Given the description of an element on the screen output the (x, y) to click on. 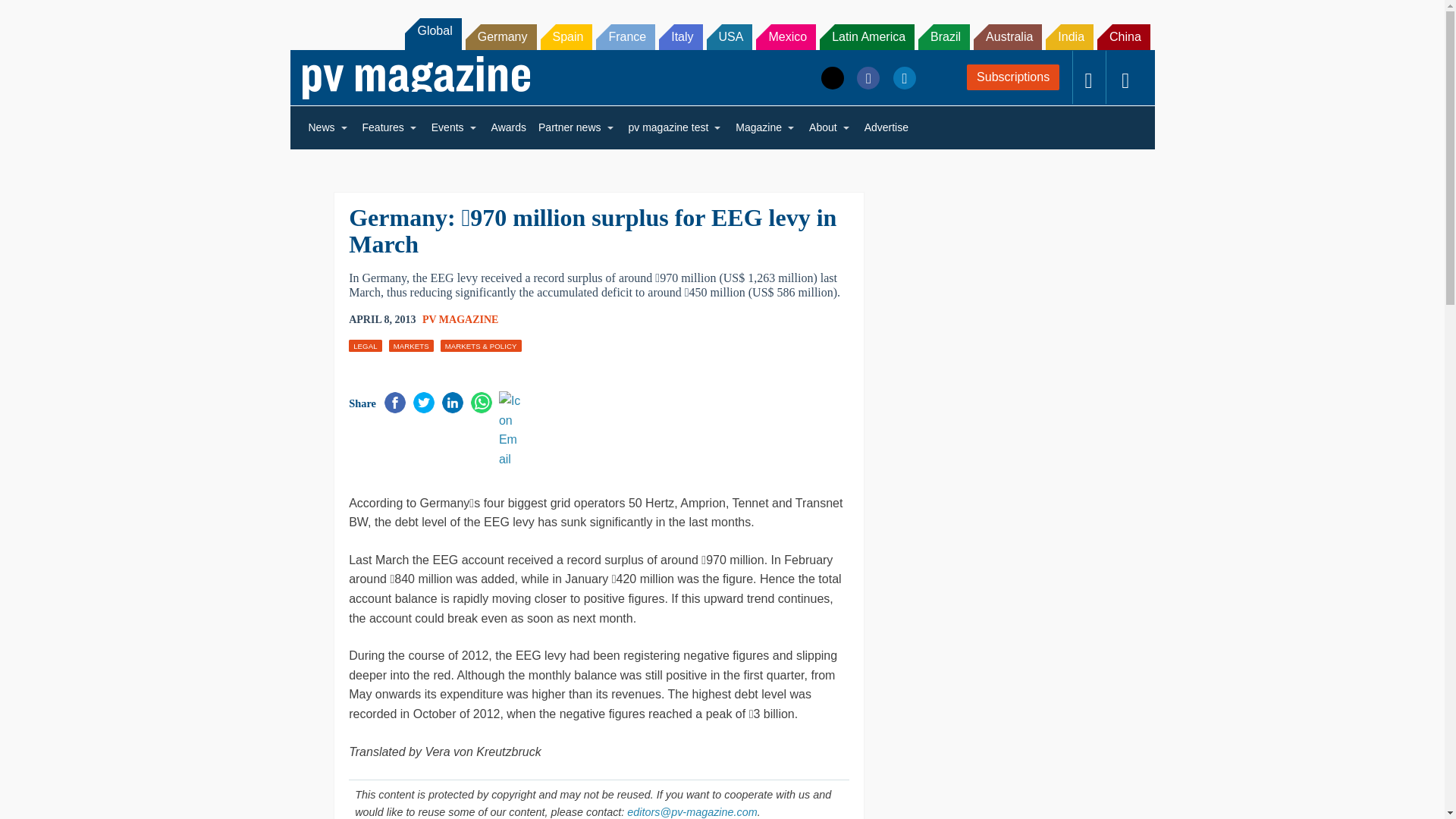
Search (32, 15)
Germany (501, 36)
Brazil (943, 36)
Subscriptions (1012, 77)
Posts by pv magazine (459, 319)
Australia (1008, 36)
pv magazine - Photovoltaics Markets and Technology (415, 77)
Spain (566, 36)
China (1123, 36)
France (625, 36)
